Given the description of an element on the screen output the (x, y) to click on. 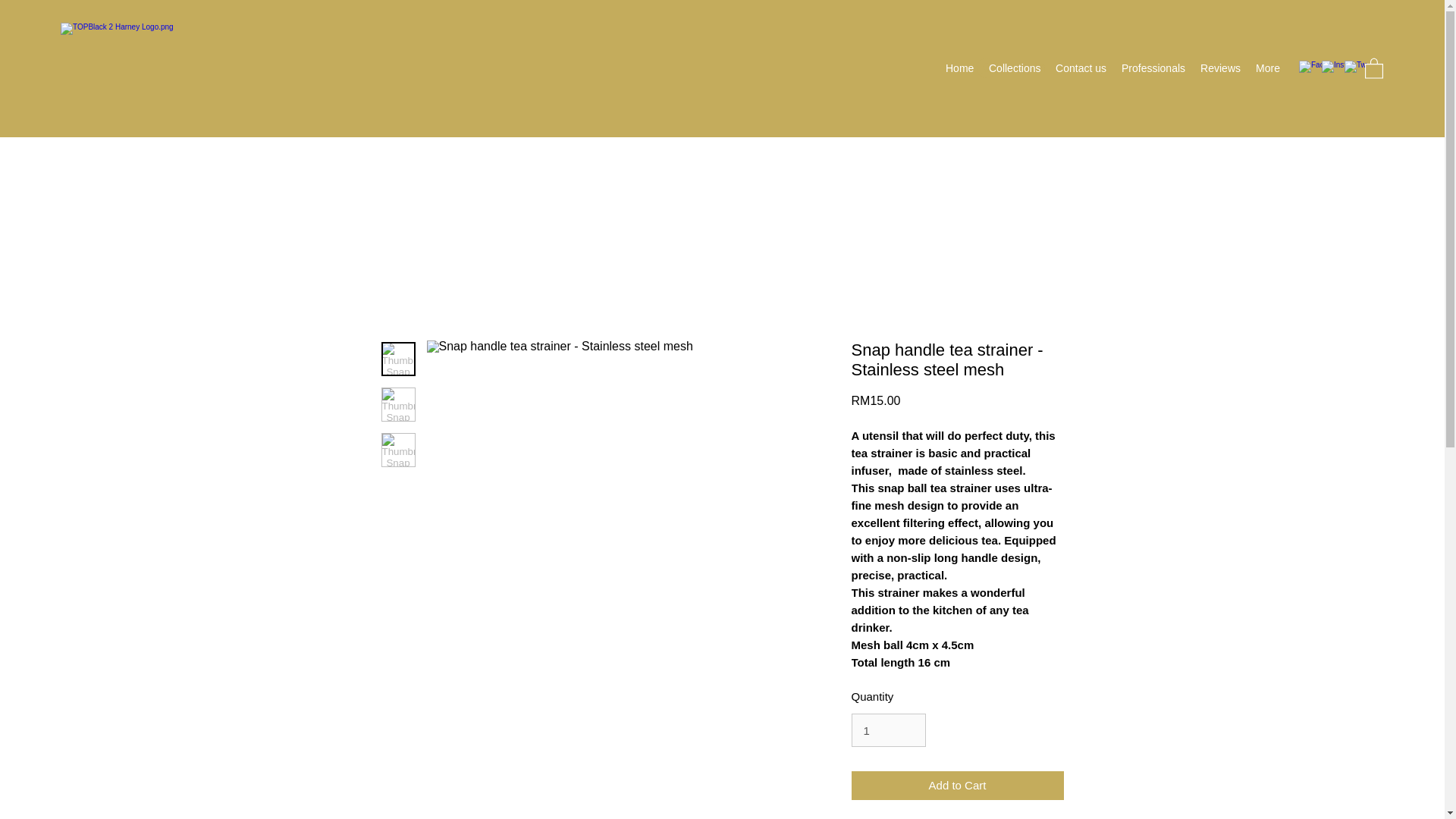
Log In (1010, 68)
1 (887, 729)
Home (959, 67)
Contact us (1080, 67)
Professionals (1152, 67)
Reviews (1219, 67)
Add to Cart (956, 785)
